Given the description of an element on the screen output the (x, y) to click on. 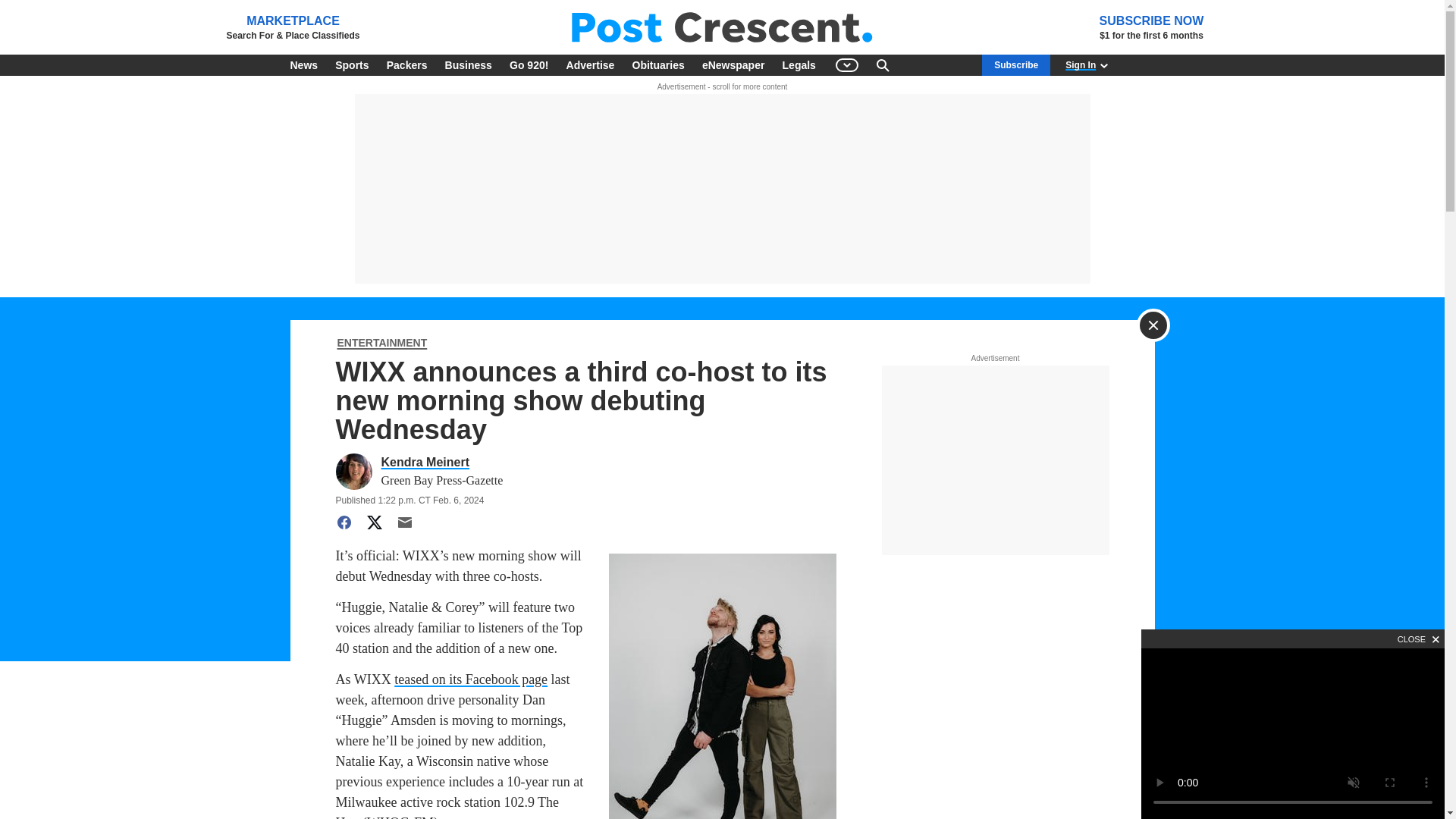
Go 920! (529, 65)
Packers (406, 65)
Advertise (591, 65)
teased on its Facebook page (470, 679)
Legals (799, 65)
Obituaries (658, 65)
Search (882, 65)
ENTERTAINMENT (381, 343)
News (303, 65)
Kendra Meinert (438, 462)
Sports (351, 65)
Weather in Appleton (936, 65)
Business (468, 65)
eNewspaper (732, 65)
